Given the description of an element on the screen output the (x, y) to click on. 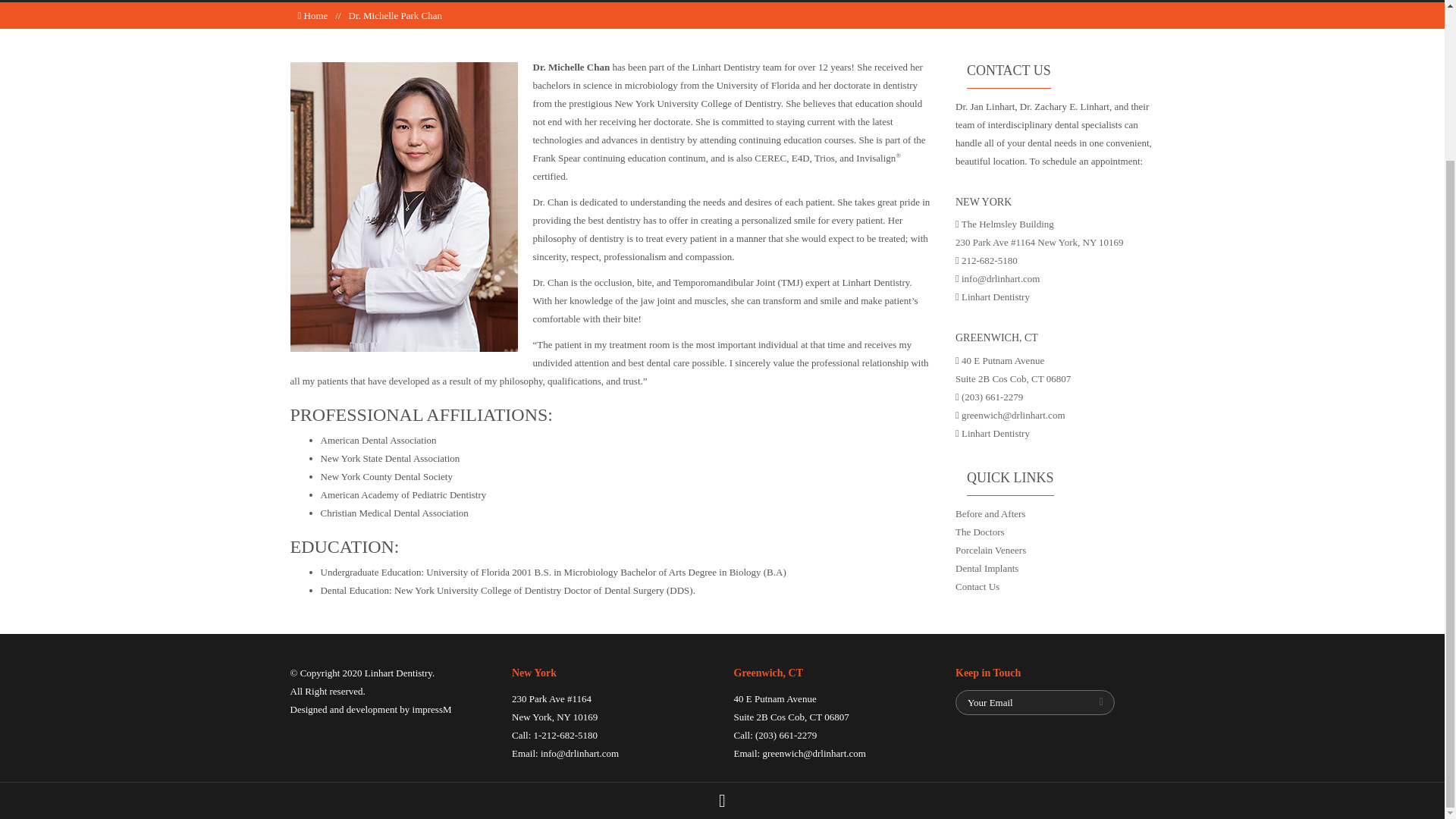
Submit (1100, 703)
E-mail (1035, 702)
Porcelain Veneers (990, 550)
